Given the description of an element on the screen output the (x, y) to click on. 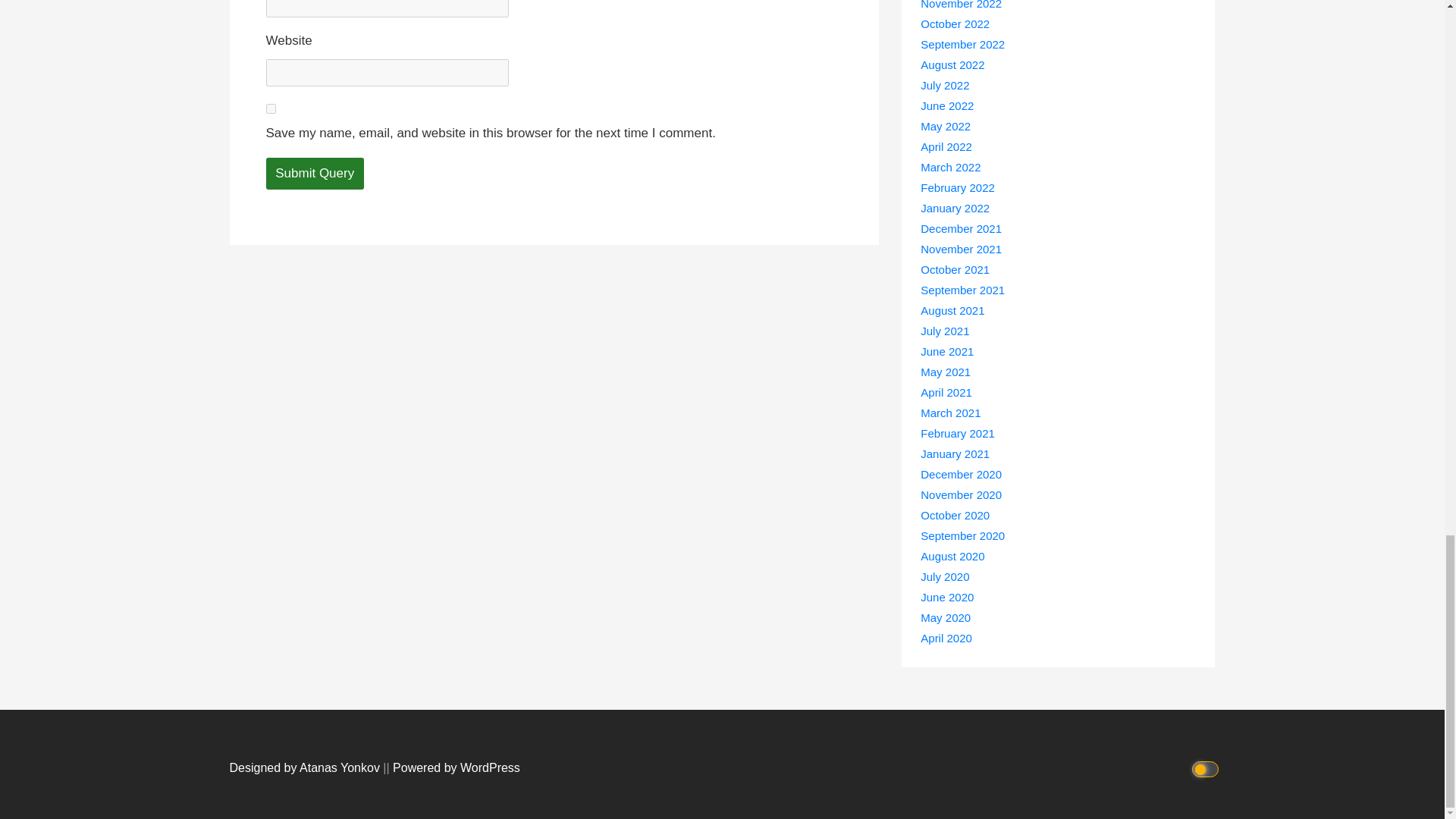
yes (269, 108)
Submit Query (313, 174)
Submit Query (313, 174)
